Given the description of an element on the screen output the (x, y) to click on. 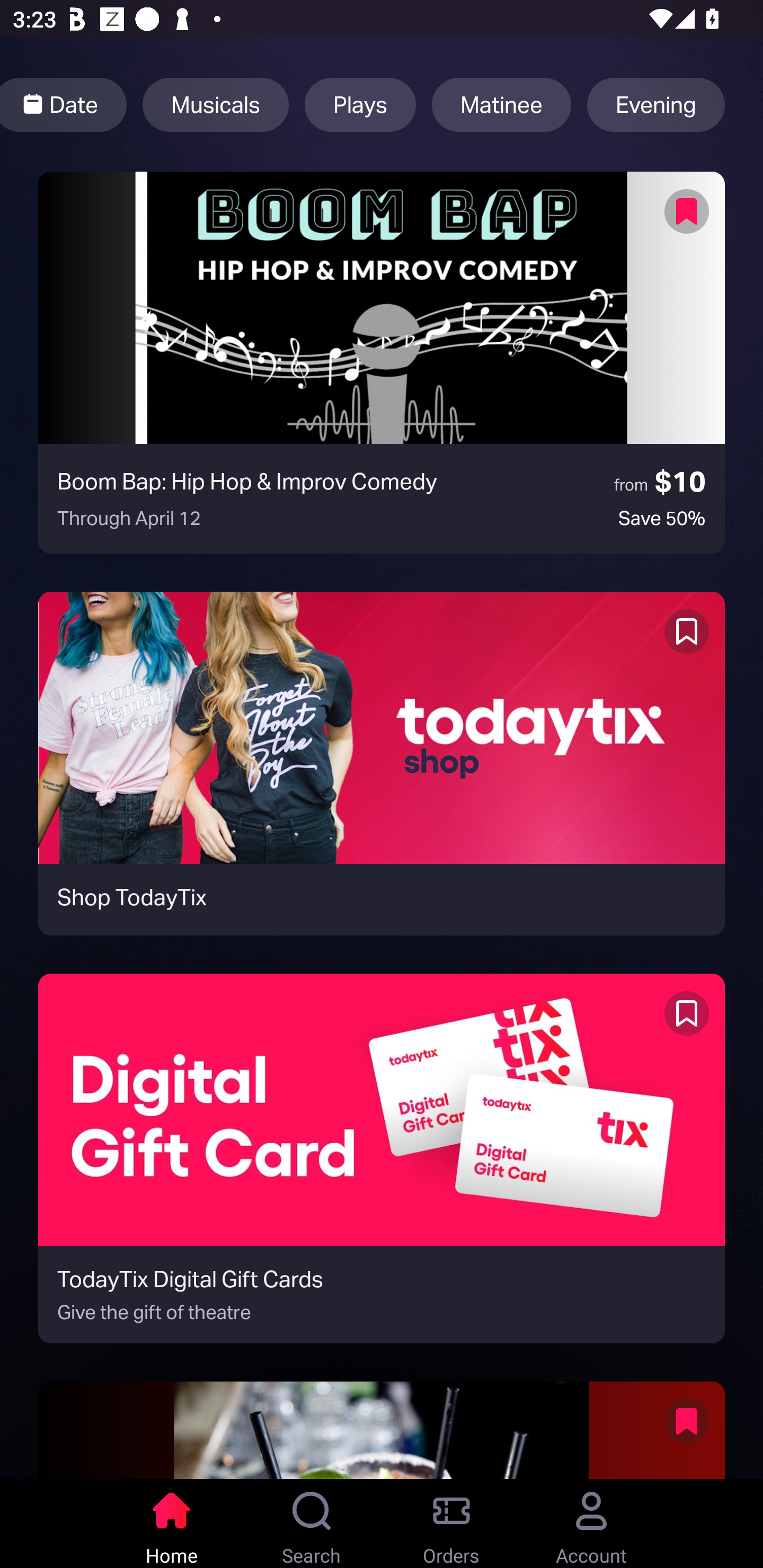
Date (63, 104)
Musicals (215, 104)
Plays (359, 104)
Matinee (501, 104)
Evening (655, 104)
Shop TodayTix (381, 763)
Search (311, 1523)
Orders (451, 1523)
Account (591, 1523)
